Given the description of an element on the screen output the (x, y) to click on. 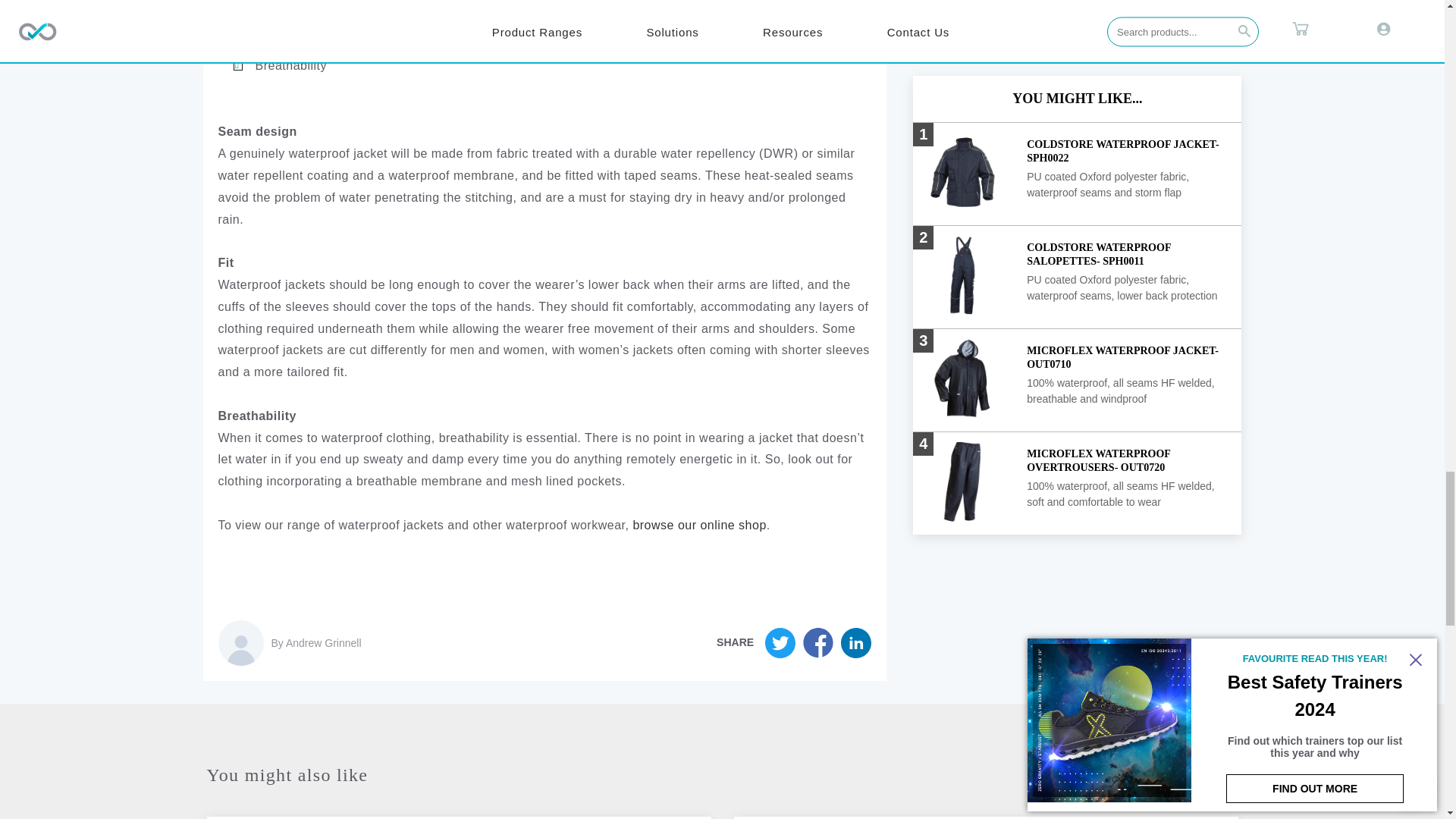
Facebook (822, 643)
Twitter (784, 643)
Facebook (855, 643)
